Given the description of an element on the screen output the (x, y) to click on. 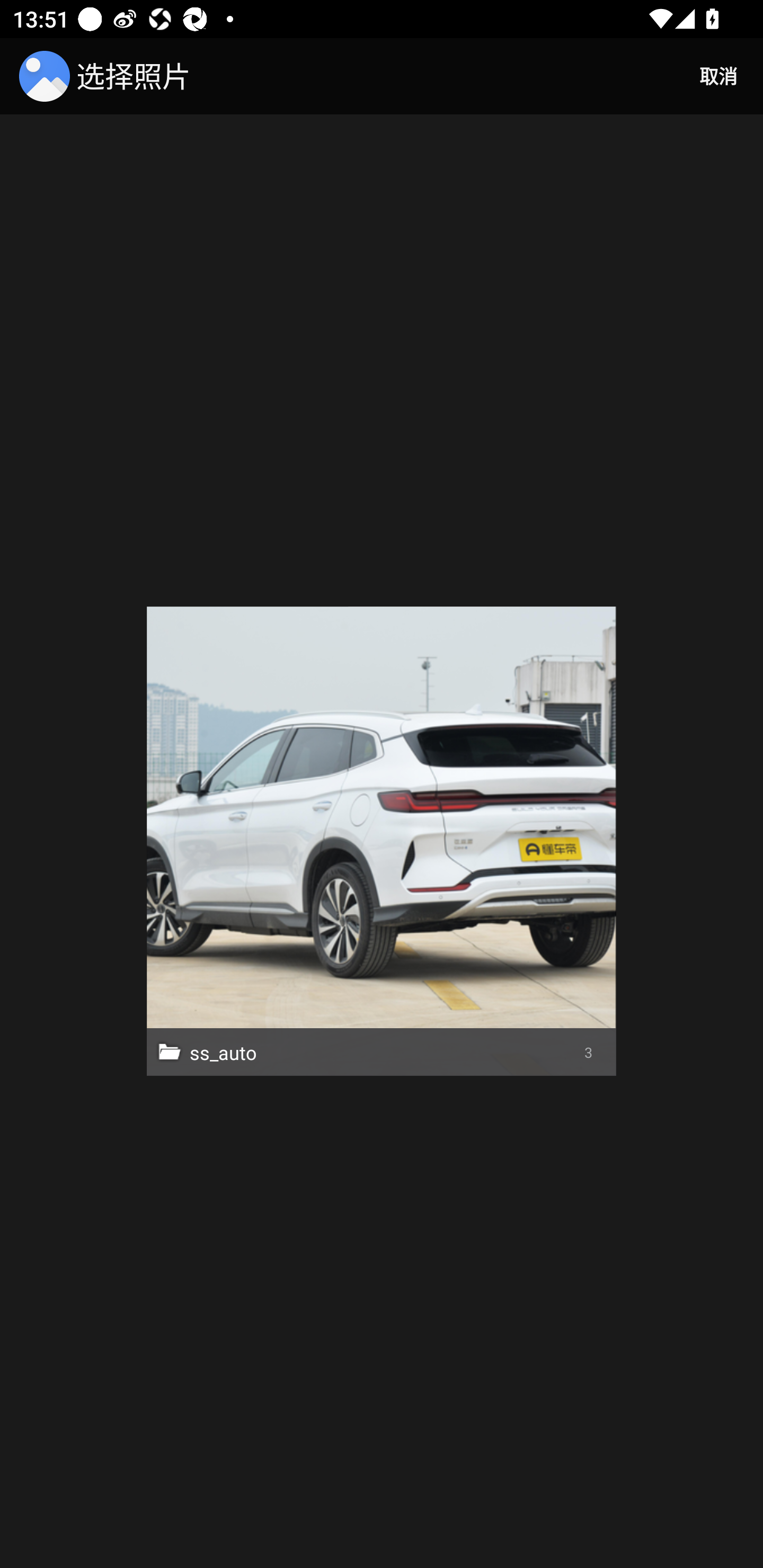
选择照片 (107, 75)
取消 (718, 75)
